Given the description of an element on the screen output the (x, y) to click on. 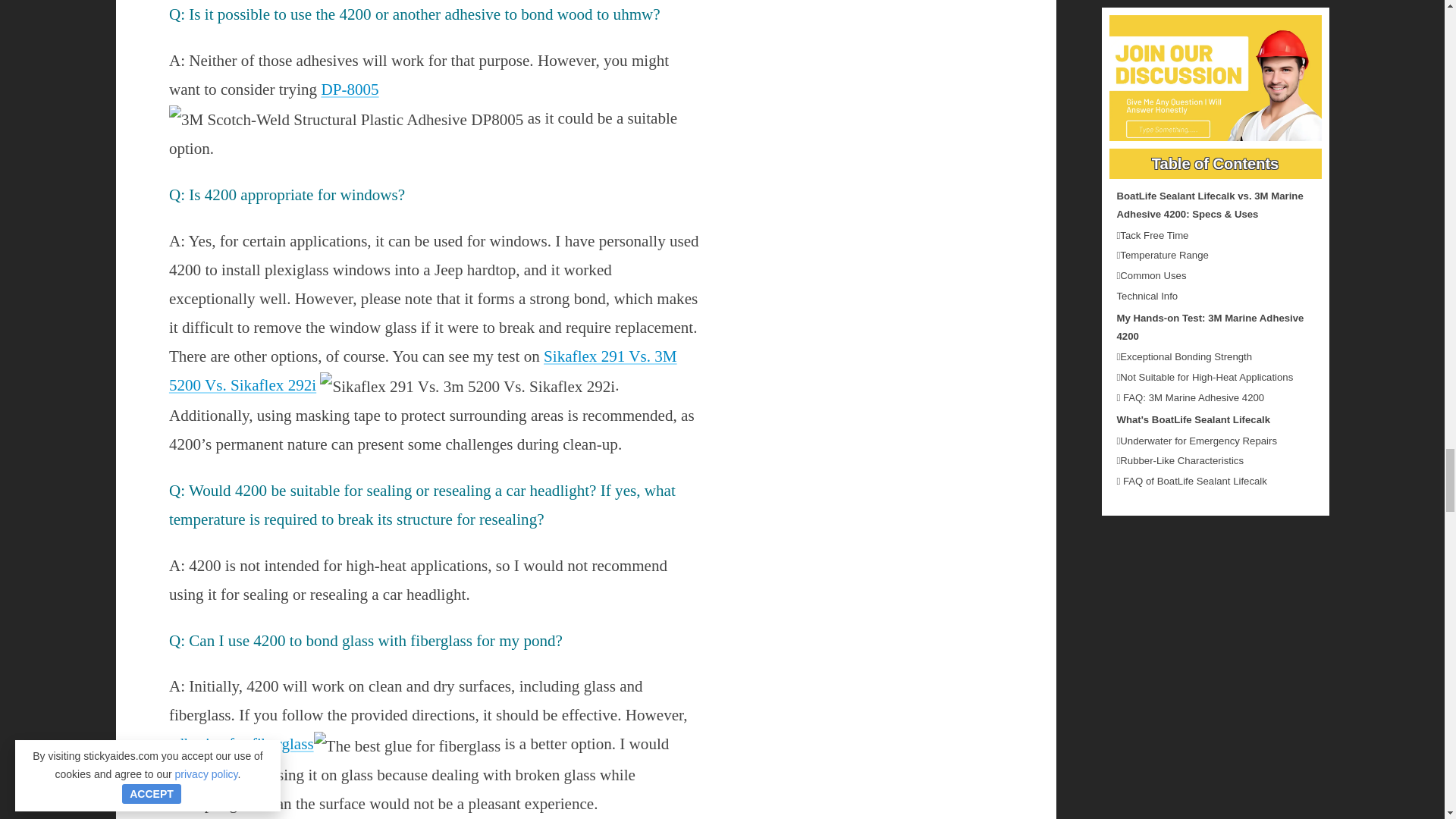
adhesive for fiberglass (241, 743)
DP-8005 (349, 89)
Sikaflex 291 Vs. 3M 5200 Vs. Sikaflex 292i (422, 370)
